Given the description of an element on the screen output the (x, y) to click on. 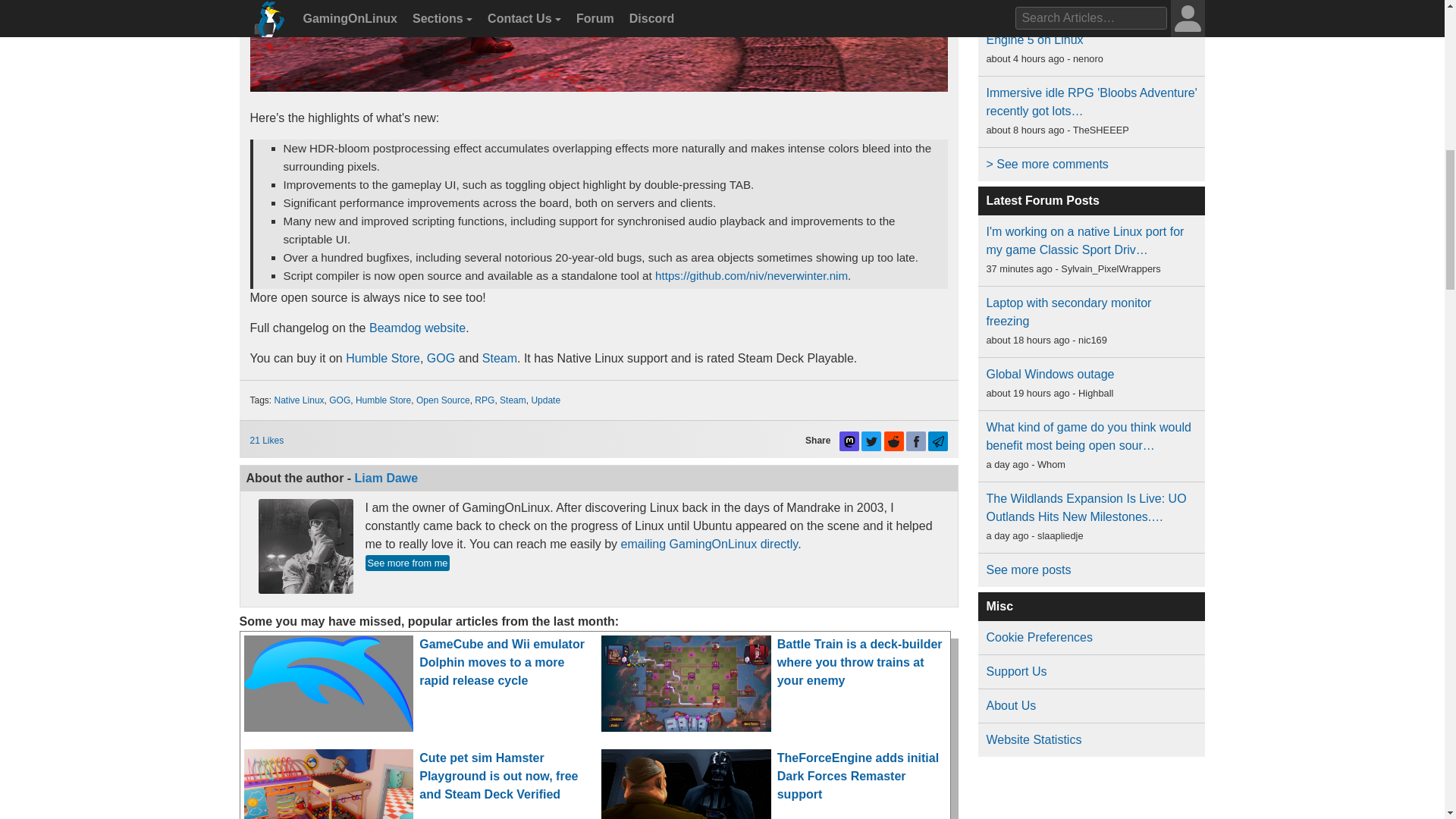
Share to Mastodon (849, 441)
